Given the description of an element on the screen output the (x, y) to click on. 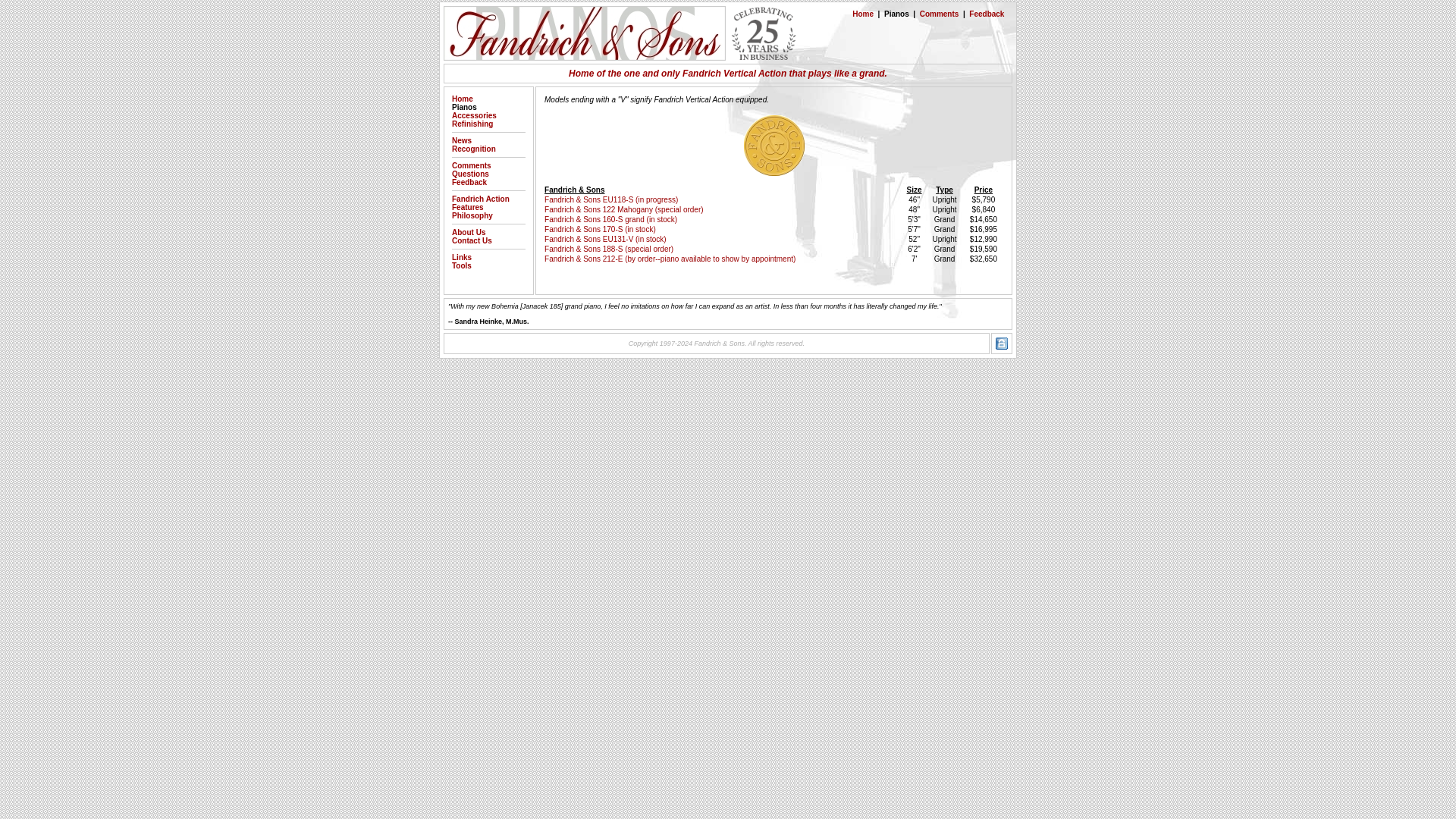
Recognition (473, 148)
Fandrich Action (480, 198)
Philosophy (472, 215)
Home (862, 13)
Contact Us (471, 240)
Feedback (468, 182)
About Us (467, 232)
Links (461, 257)
Accessories (473, 115)
Questions (470, 173)
News (461, 140)
Feedback (986, 13)
Tools (461, 265)
Home (462, 99)
Features (467, 207)
